Given the description of an element on the screen output the (x, y) to click on. 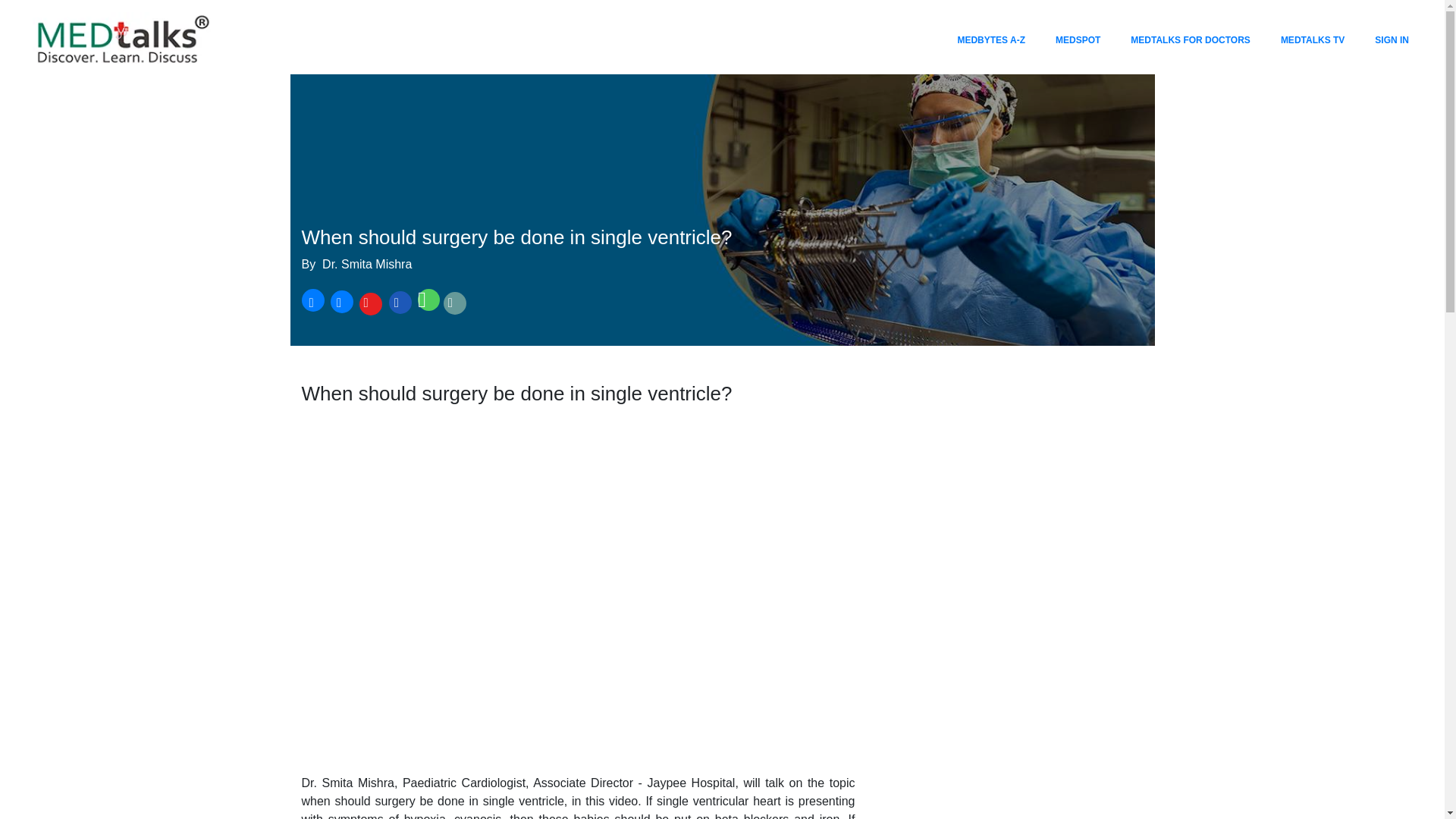
MEDSPOT (1077, 40)
share on Facebook (312, 302)
MEDTALKS FOR DOCTORS (1190, 40)
MEDBYTES A-Z (990, 40)
MEDTALKS TV (1313, 40)
share on Linkdin (398, 302)
share on whatsapp (426, 302)
share on twitter (340, 302)
share on Google-plus (368, 302)
share on Reddit (454, 302)
SIGN IN (1391, 40)
